Given the description of an element on the screen output the (x, y) to click on. 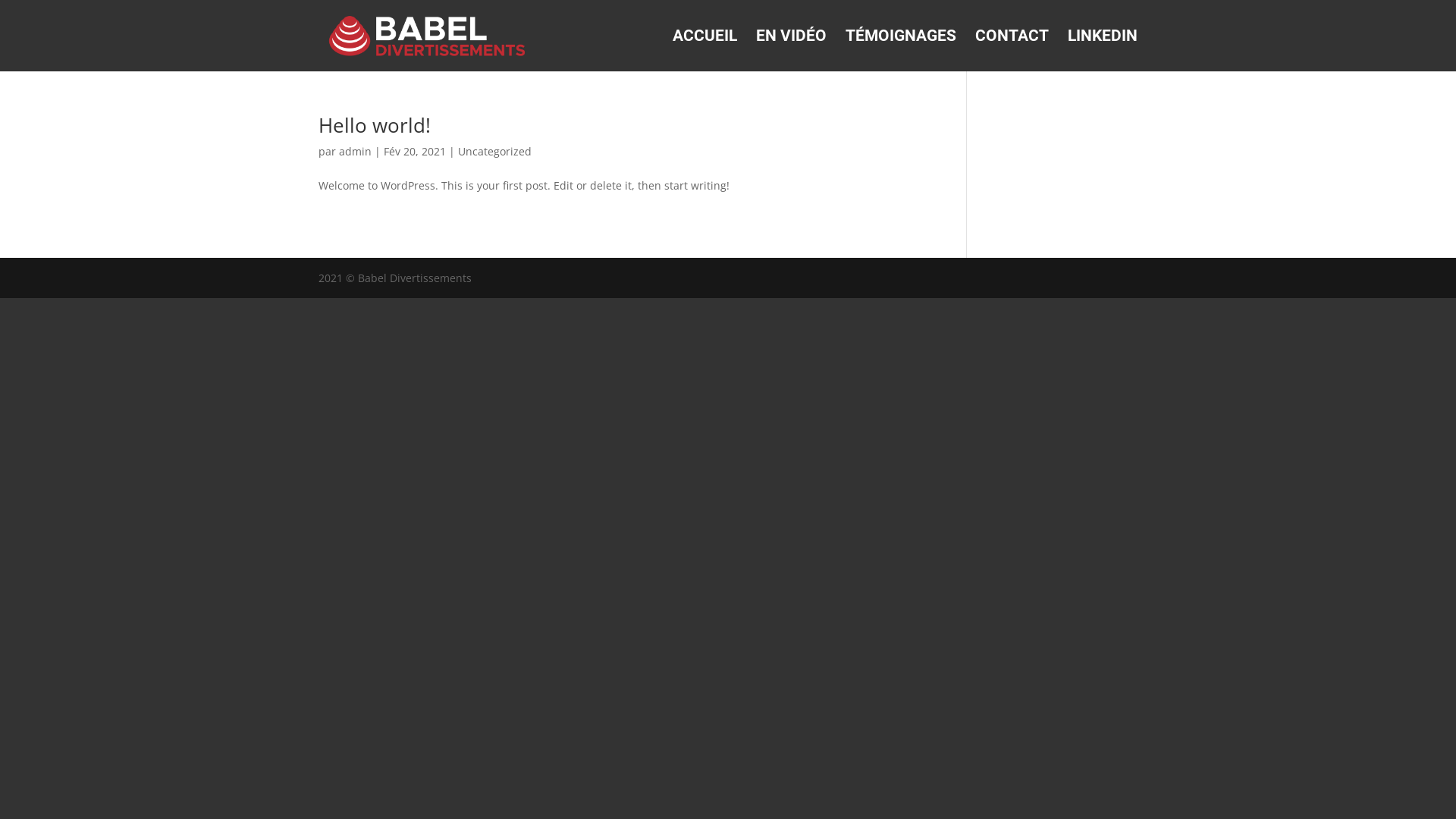
ACCUEIL Element type: text (704, 50)
CONTACT Element type: text (1011, 50)
LINKEDIN Element type: text (1102, 50)
Hello world! Element type: text (374, 124)
Uncategorized Element type: text (494, 151)
admin Element type: text (354, 151)
